Given the description of an element on the screen output the (x, y) to click on. 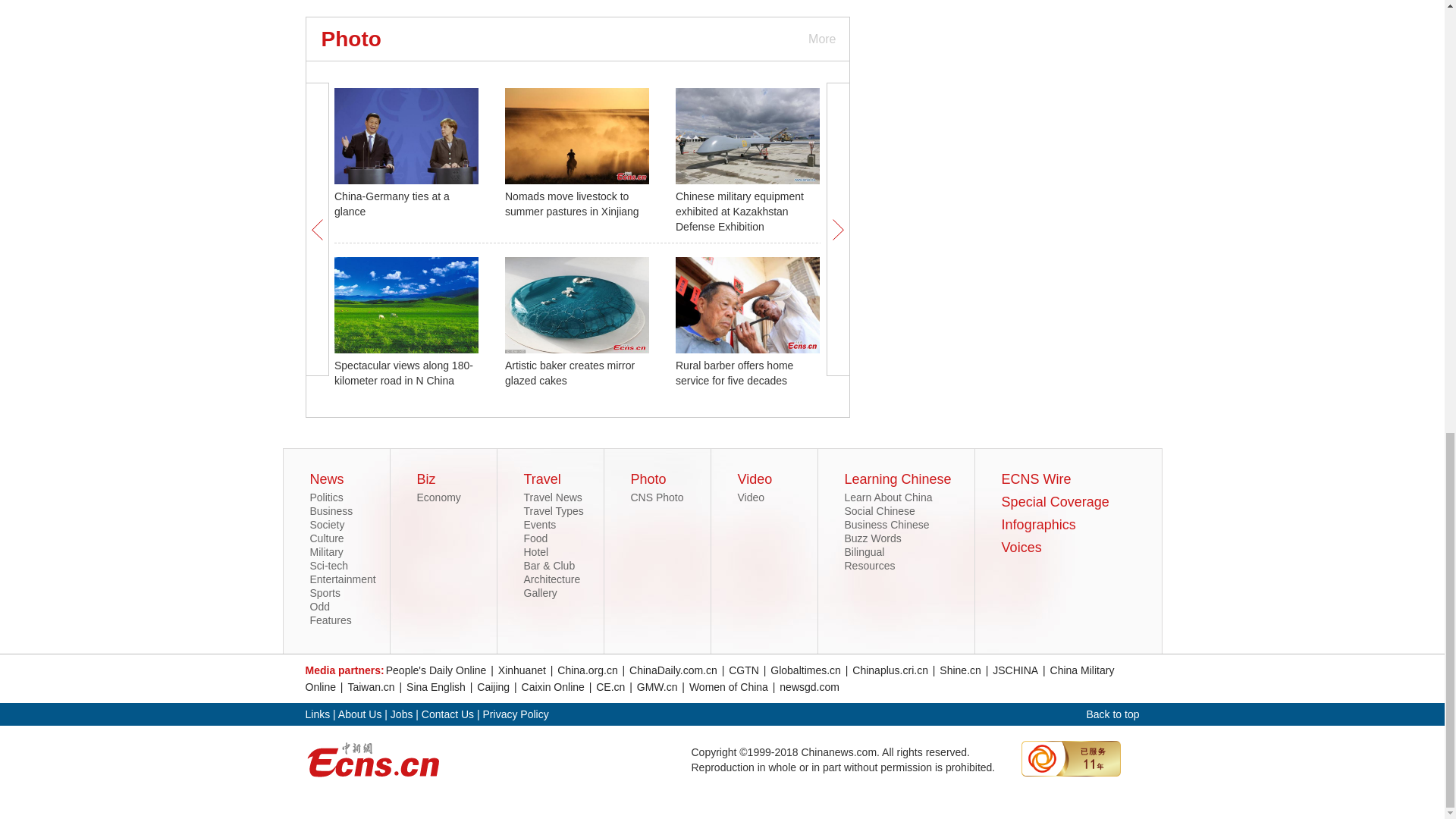
Nomads move livestock to summer pastures in Xinjiang (572, 203)
Spectacular views along 180-kilometer road in N China (403, 372)
China-Germany ties at a glance (391, 203)
More (820, 38)
Artistic baker creates mirror glazed cakes (569, 372)
